Given the description of an element on the screen output the (x, y) to click on. 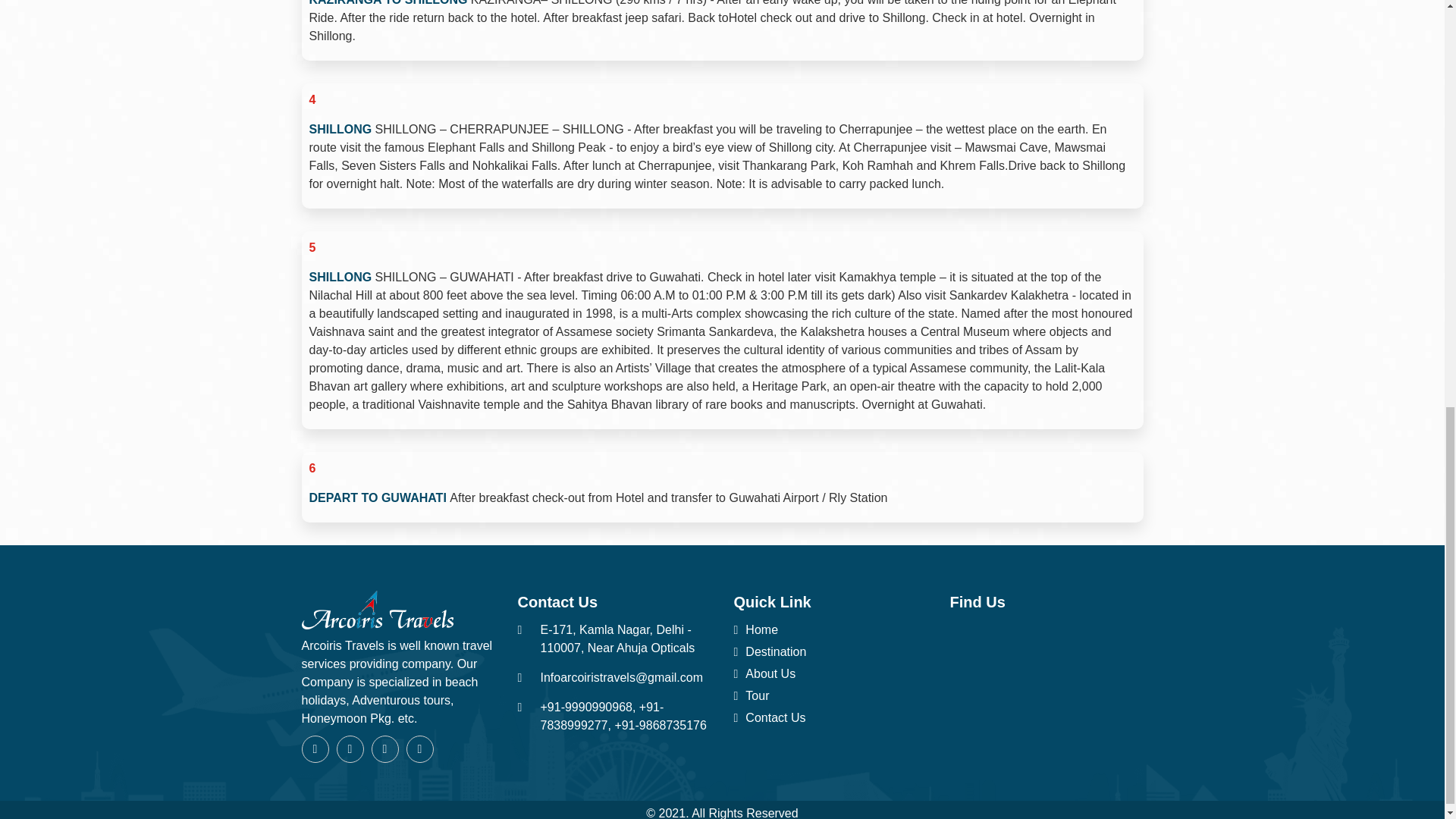
About Us (830, 674)
Destination (830, 651)
Home (830, 629)
